Given the description of an element on the screen output the (x, y) to click on. 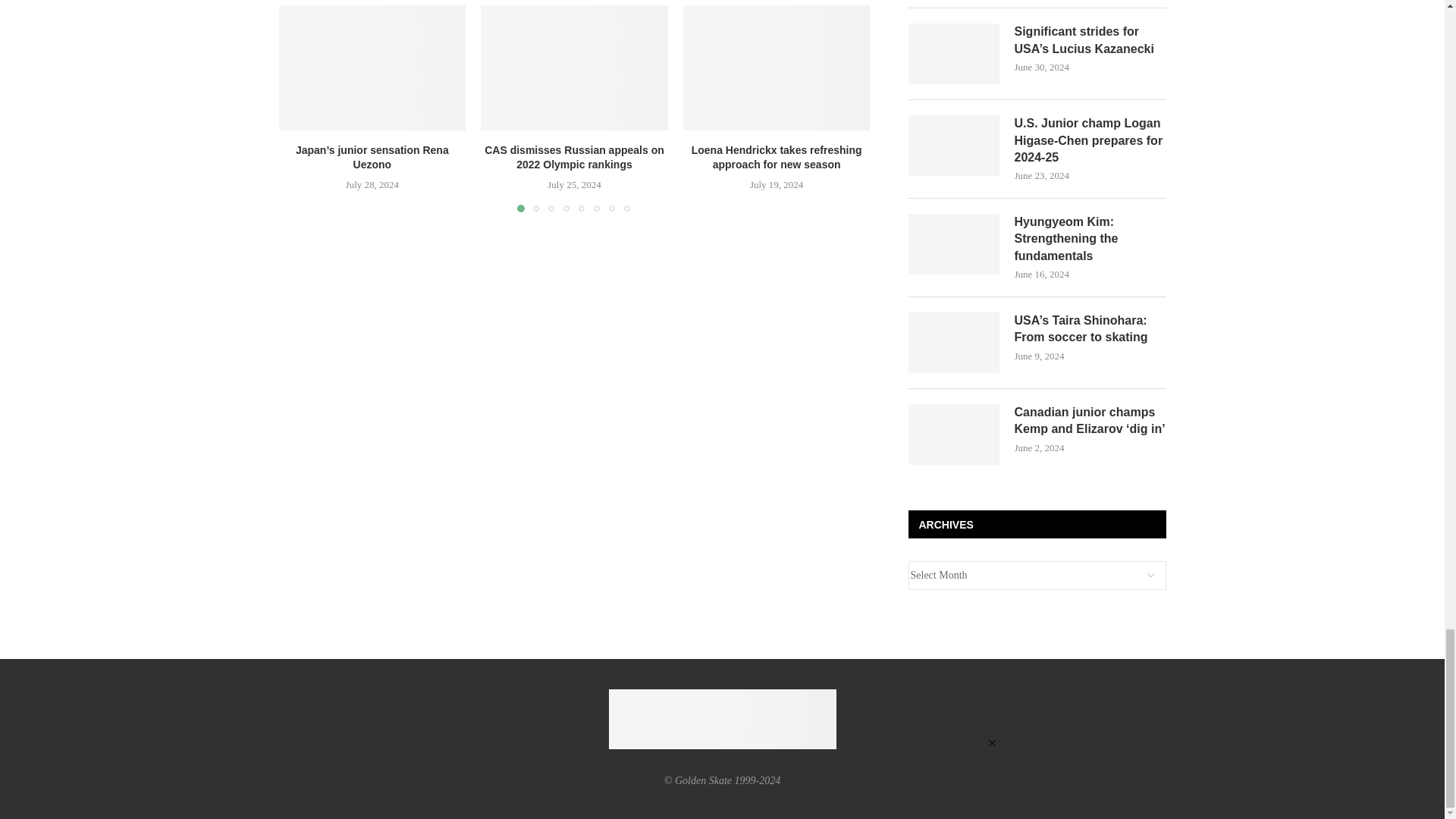
CAS dismisses Russian appeals on 2022 Olympic rankings (574, 66)
Loena Hendrickx takes refreshing approach for new season (776, 66)
